Given the description of an element on the screen output the (x, y) to click on. 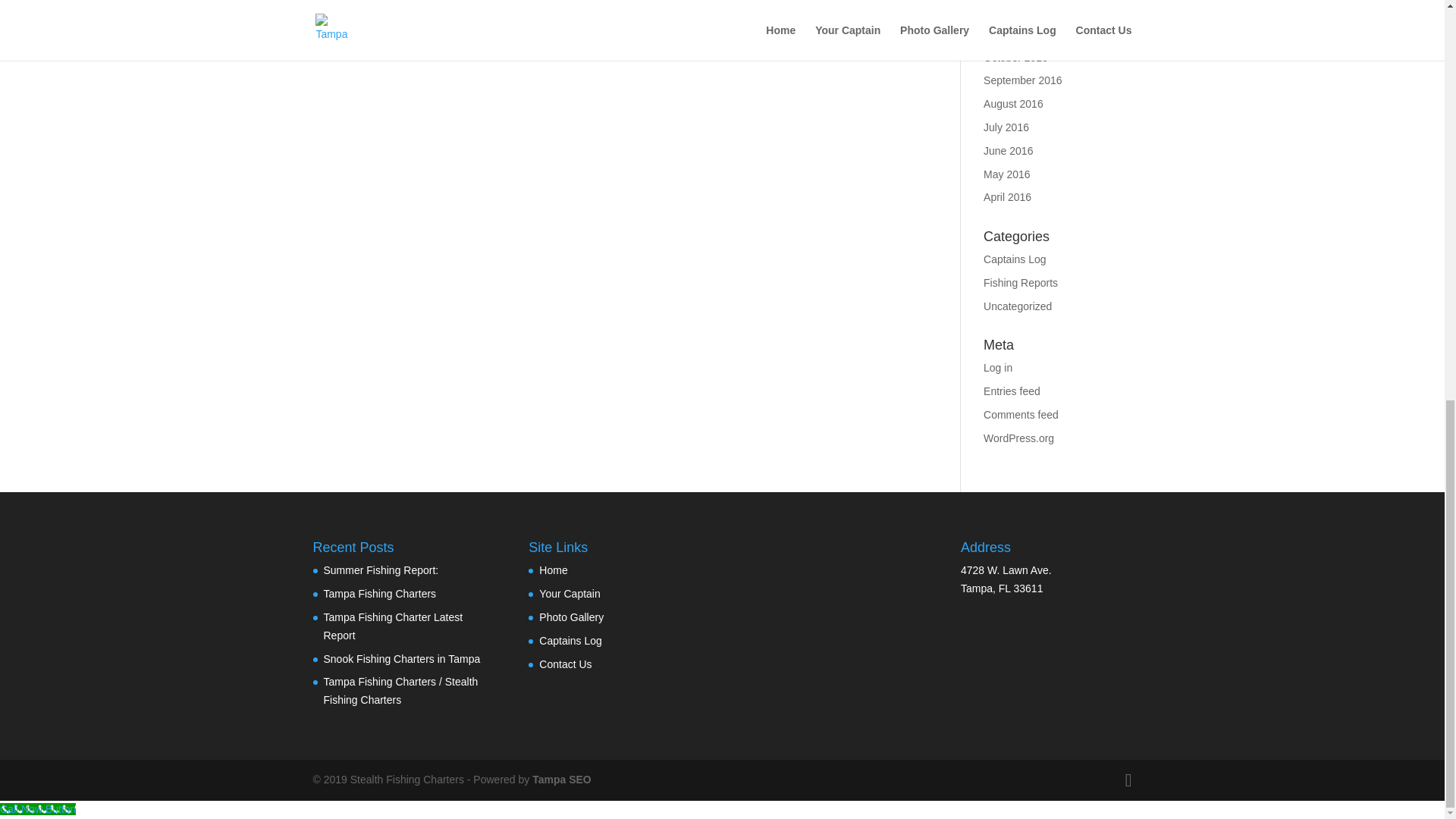
August 2016 (1013, 103)
October 2016 (1016, 57)
December 2016 (1021, 10)
July 2016 (1006, 127)
June 2016 (1008, 150)
November 2016 (1021, 33)
September 2016 (1023, 80)
